Given the description of an element on the screen output the (x, y) to click on. 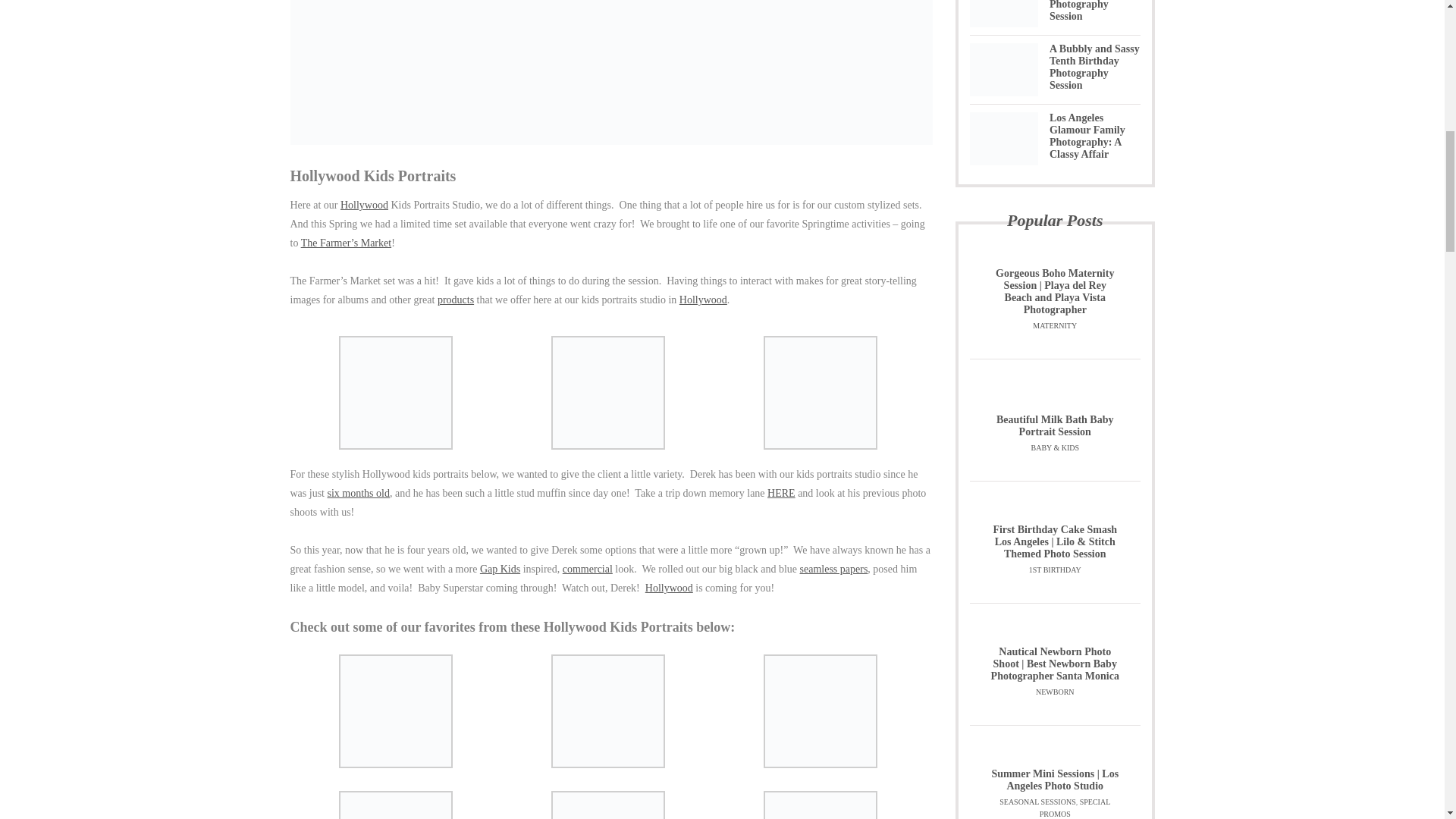
Gap Kids (499, 568)
Hollywood (364, 204)
seamless papers (833, 568)
HERE (780, 492)
products (456, 299)
commercial (587, 568)
six months old (358, 492)
Hollywood (669, 587)
Hollywood (702, 299)
